Given the description of an element on the screen output the (x, y) to click on. 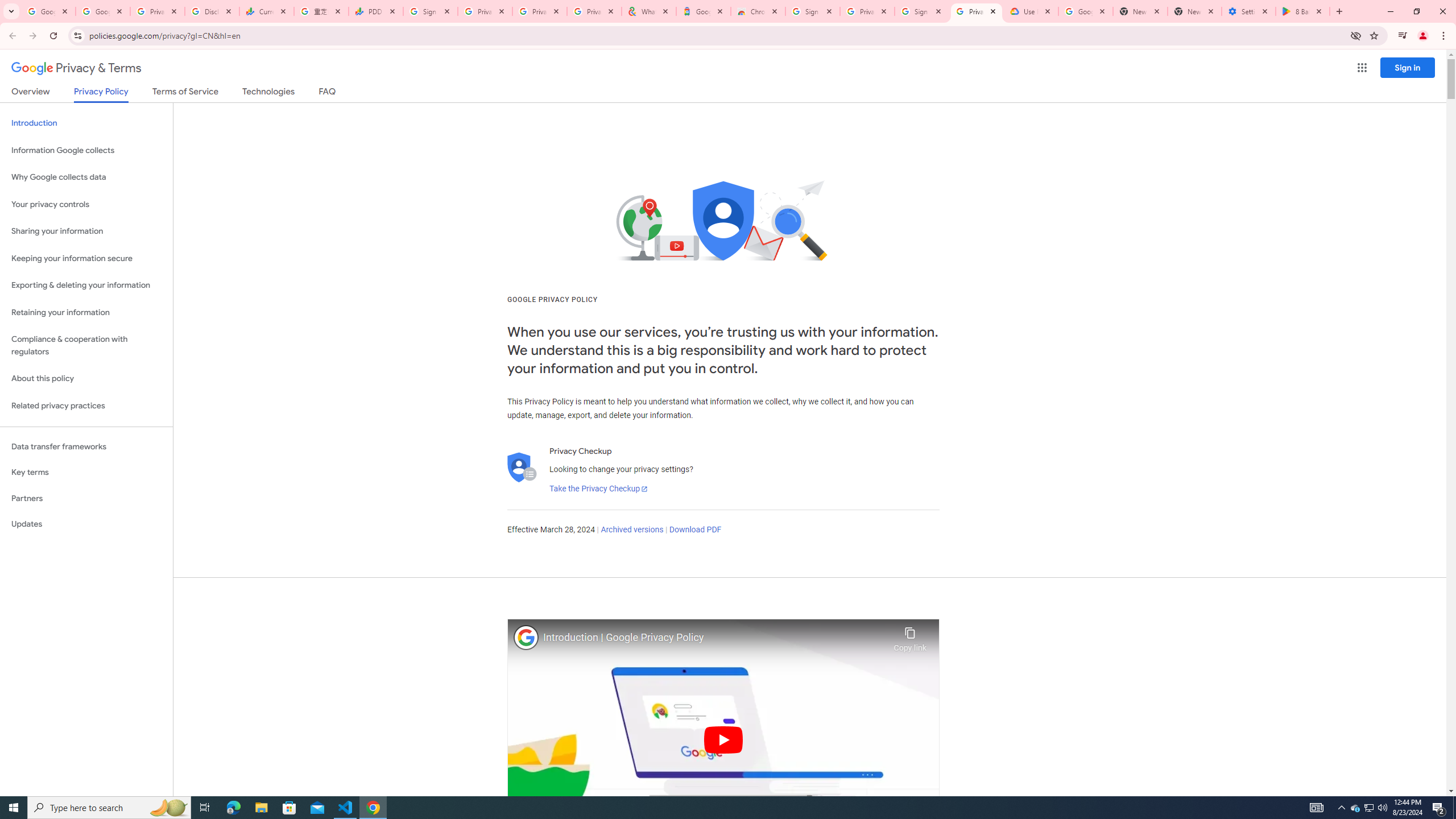
Settings - System (1249, 11)
Google (703, 11)
8 Ball Pool - Apps on Google Play (1303, 11)
